Given the description of an element on the screen output the (x, y) to click on. 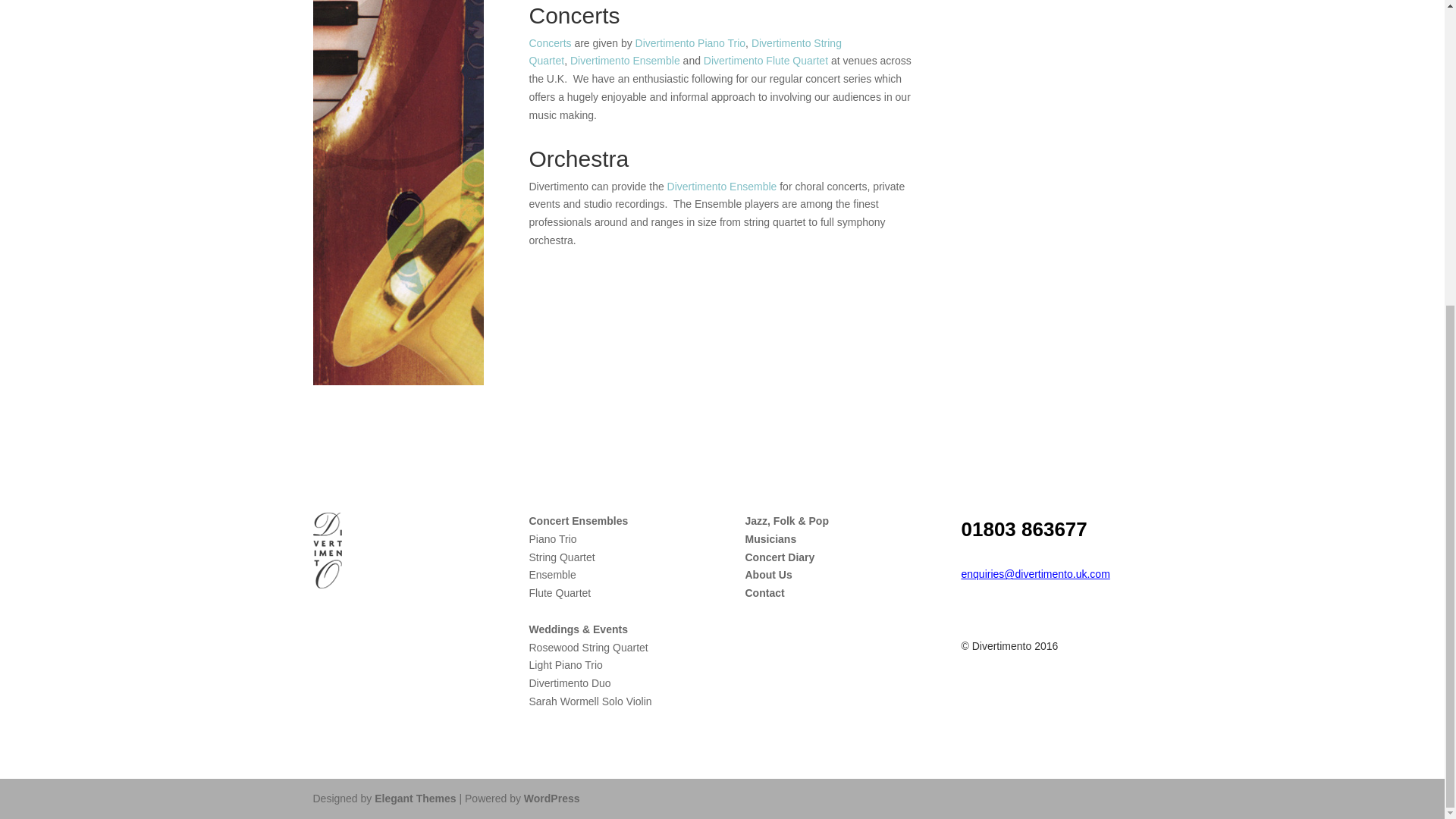
Premium WordPress Themes (414, 798)
